Given the description of an element on the screen output the (x, y) to click on. 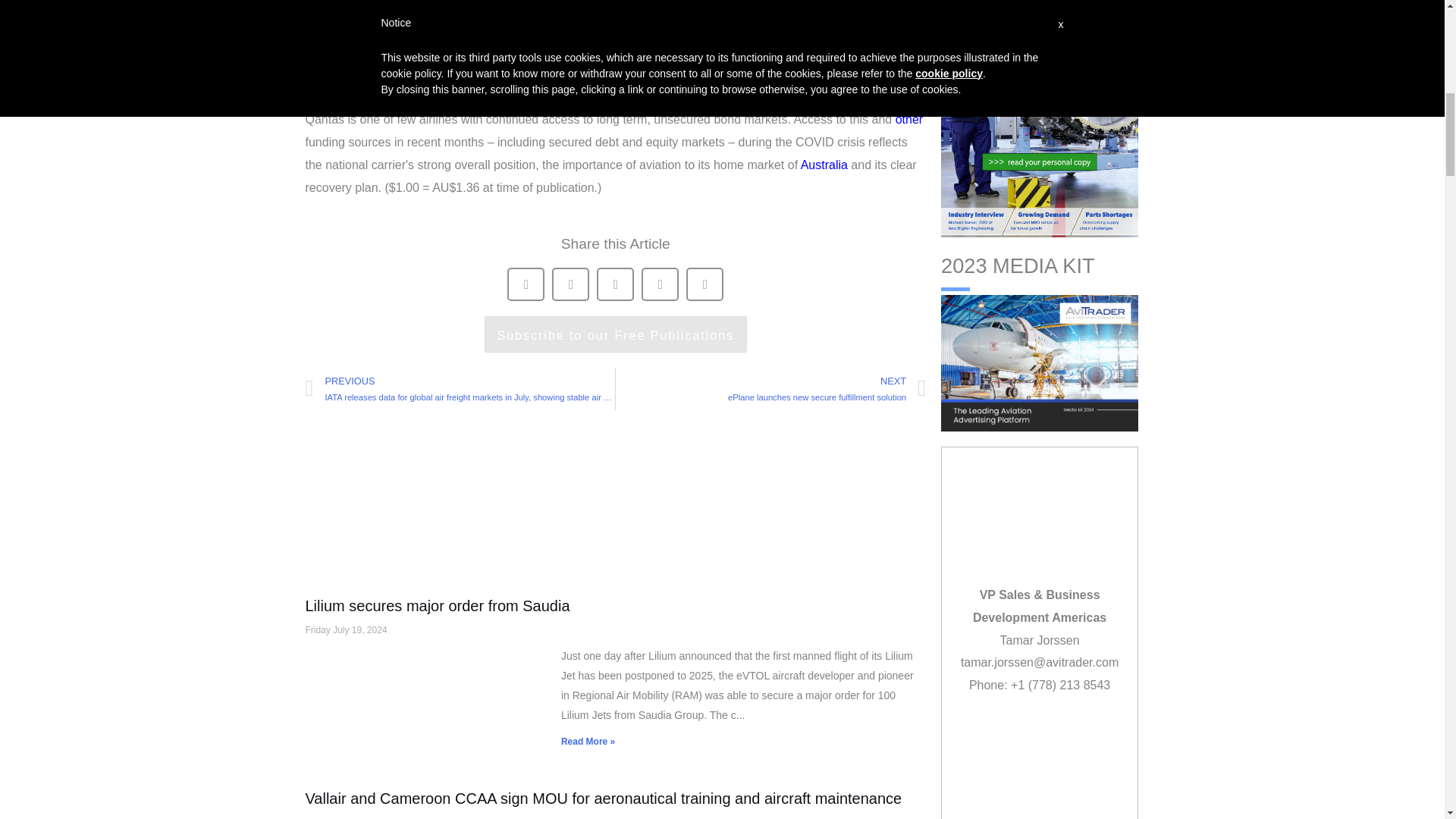
Posts tagged with Financial (504, 75)
Posts tagged with Australia (823, 164)
Posts tagged with Other (909, 119)
